Given the description of an element on the screen output the (x, y) to click on. 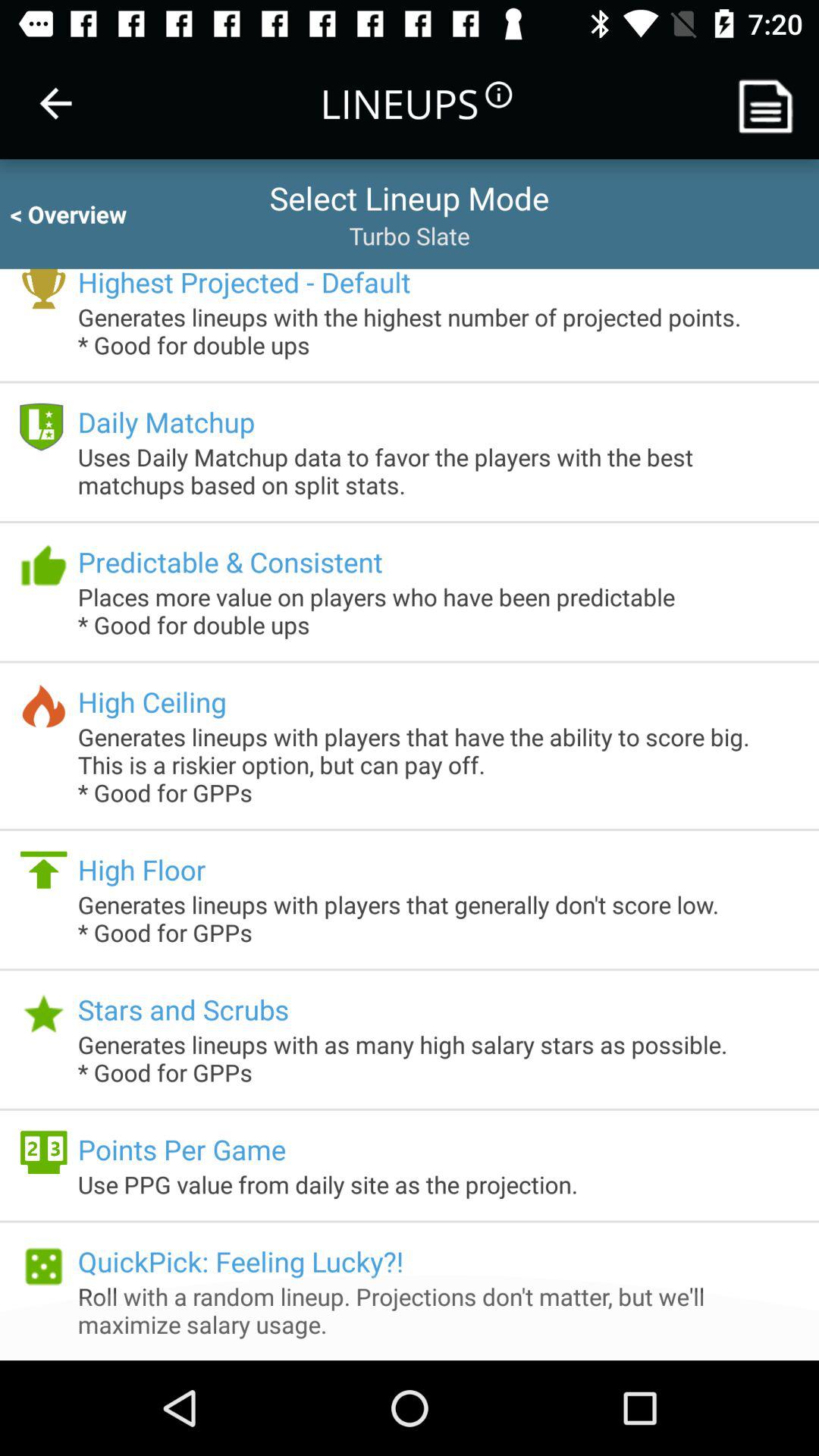
sorting (771, 103)
